Given the description of an element on the screen output the (x, y) to click on. 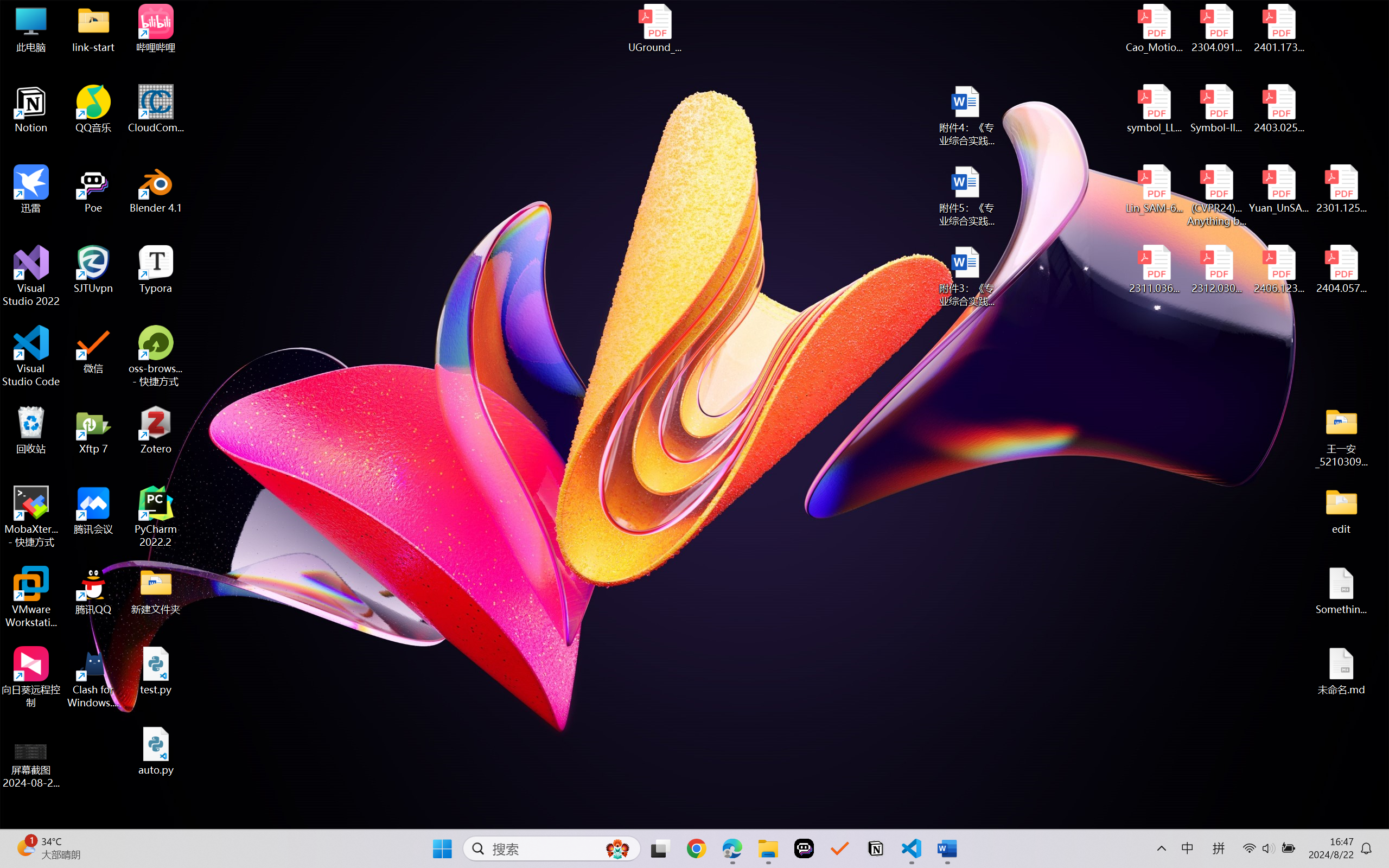
test.py (156, 670)
Xftp 7 (93, 430)
Something.md (1340, 591)
